Given the description of an element on the screen output the (x, y) to click on. 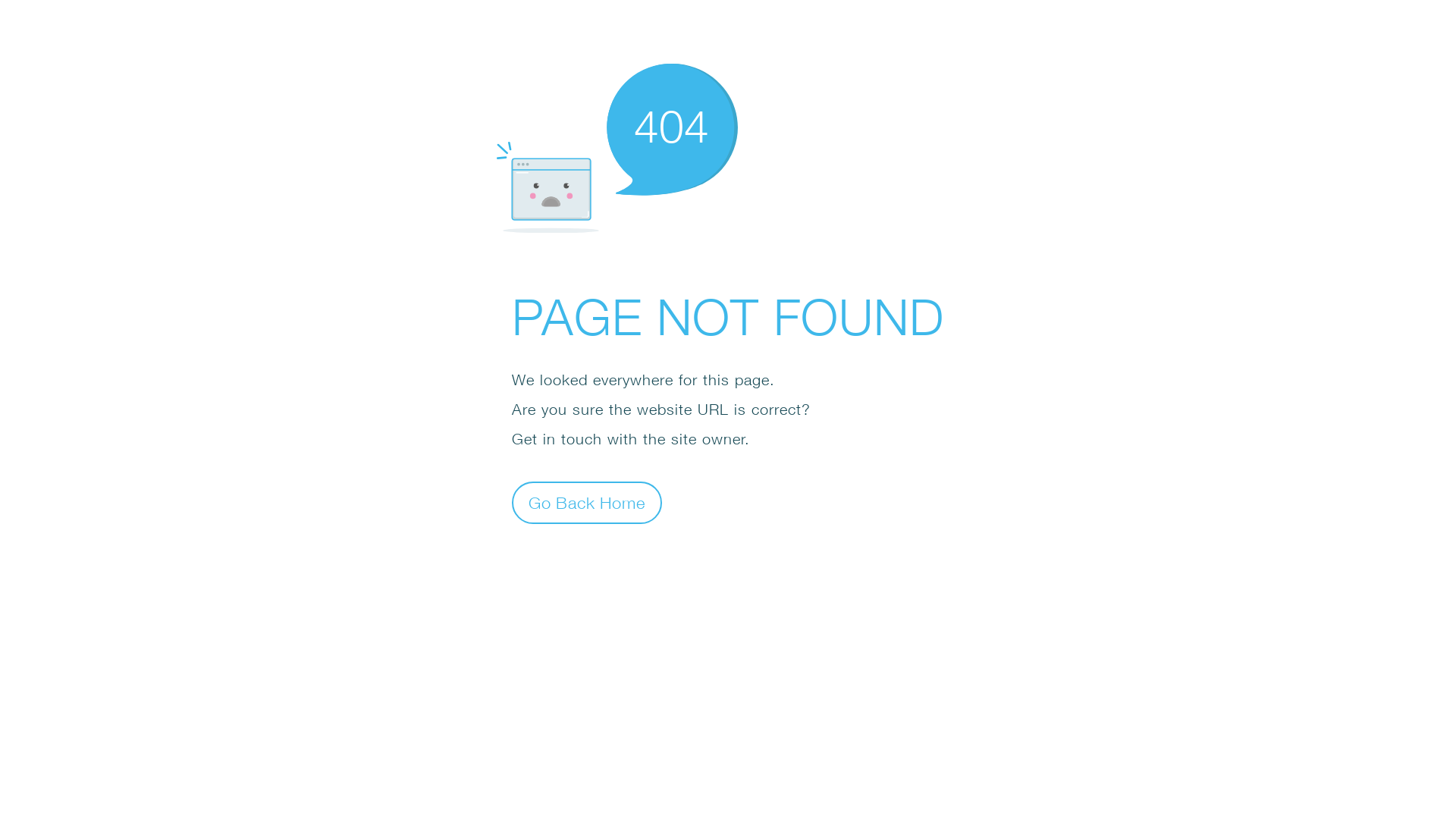
Go Back Home Element type: text (586, 502)
